Given the description of an element on the screen output the (x, y) to click on. 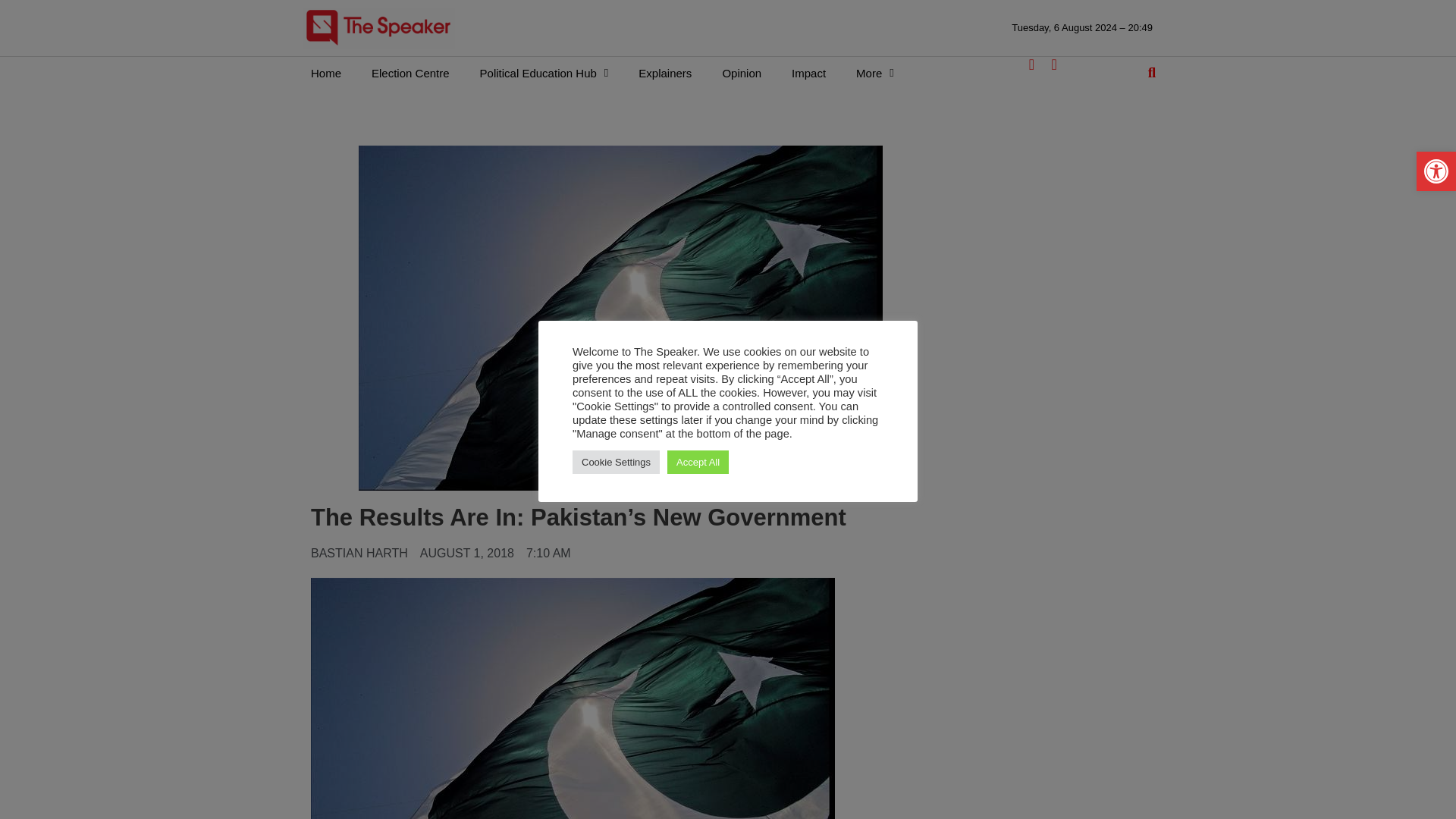
Opinion (741, 73)
The Speaker (378, 27)
Political Education Hub (544, 73)
Election Centre (410, 73)
Accessibility Tools (1435, 170)
Home (325, 73)
Impact (808, 73)
Explainers (664, 73)
More (874, 73)
